Given the description of an element on the screen output the (x, y) to click on. 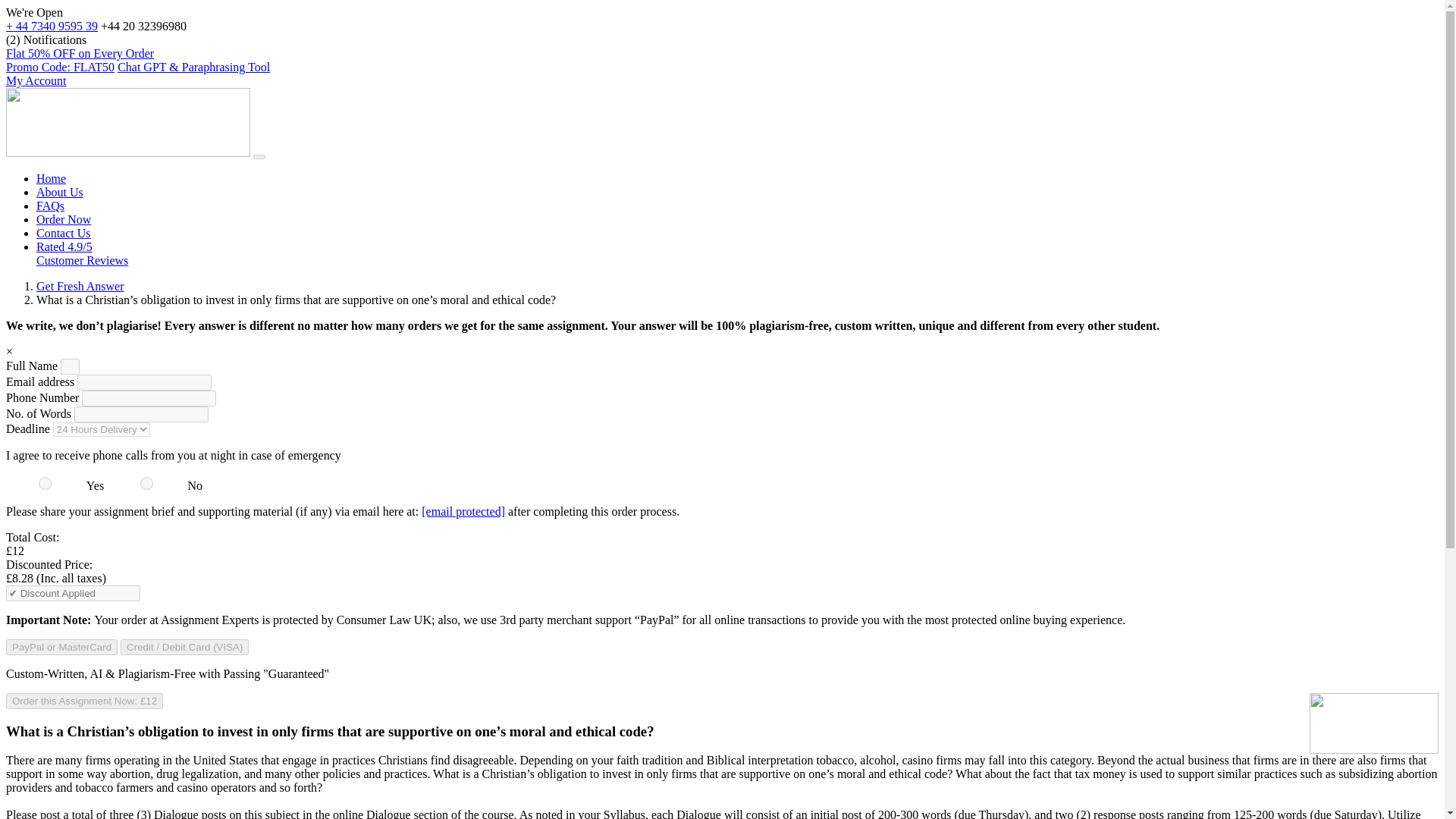
Notifications (55, 39)
Whatsapp (51, 25)
FAQs (50, 205)
Order Now (63, 219)
no (146, 482)
yes (45, 482)
PayPal or MasterCard (61, 647)
Get Fresh Answer (79, 286)
Land Line (143, 25)
My Account (35, 80)
Contact Us (63, 232)
About Us (59, 192)
Home (50, 178)
PayPal or MasterCard (61, 647)
